Given the description of an element on the screen output the (x, y) to click on. 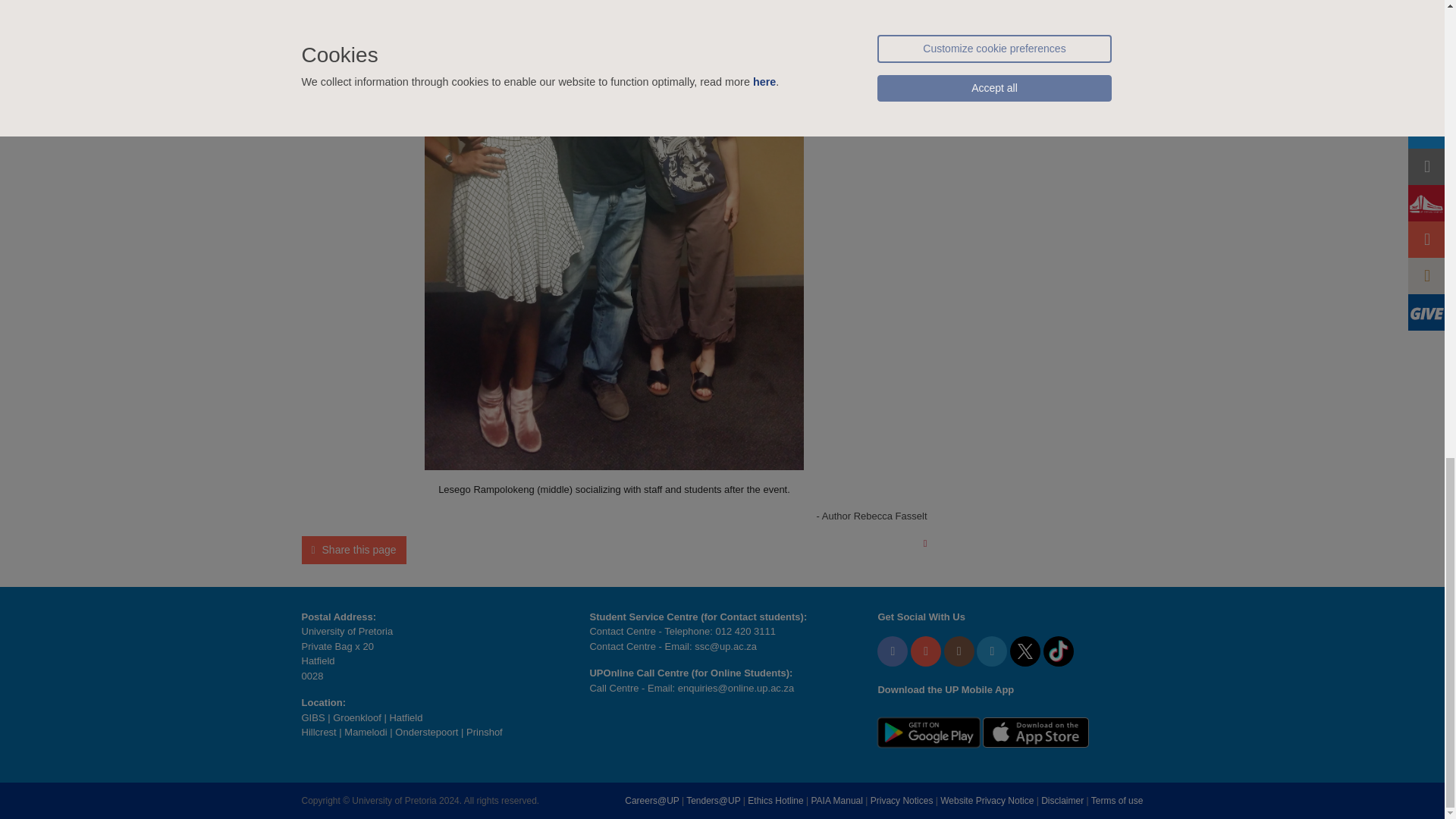
Groenkloof (357, 717)
Share this page (353, 550)
GIBS (312, 717)
Hillcrest (318, 731)
Mamelodi (365, 731)
Hatfield (405, 717)
